Given the description of an element on the screen output the (x, y) to click on. 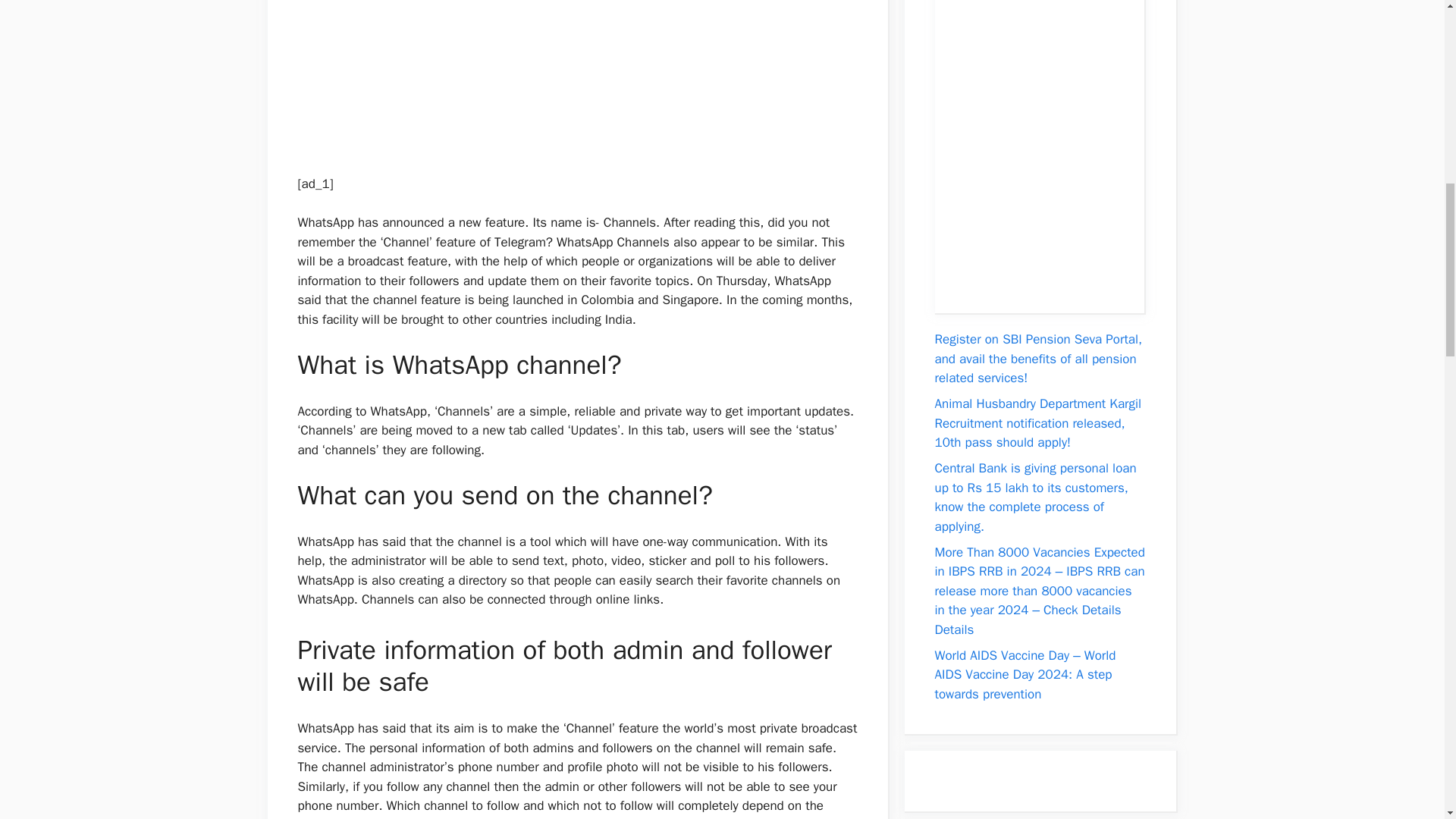
Advertisement (569, 72)
